Given the description of an element on the screen output the (x, y) to click on. 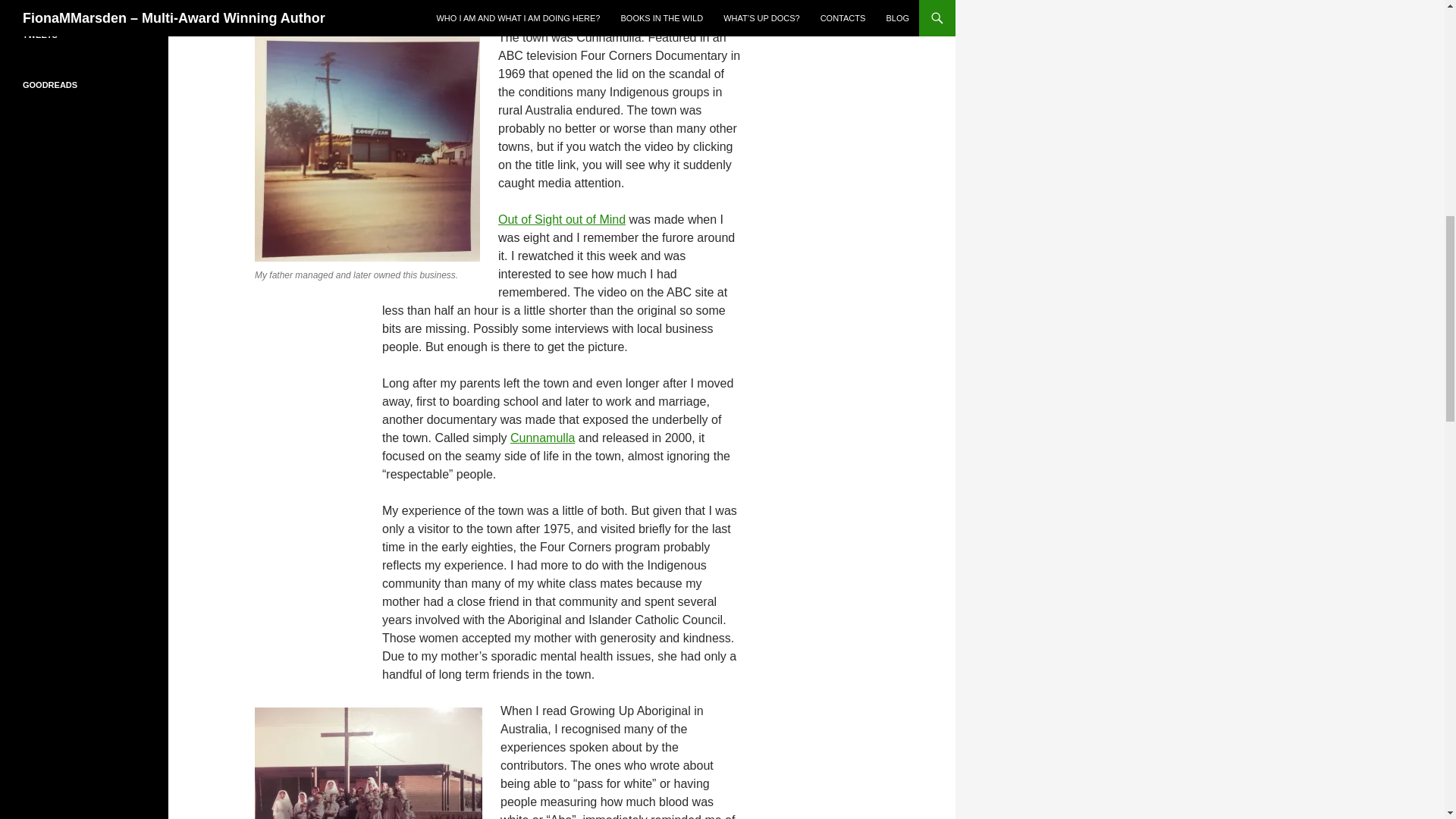
Cunnamulla (543, 437)
Out of Sight out of Mind (561, 219)
